Given the description of an element on the screen output the (x, y) to click on. 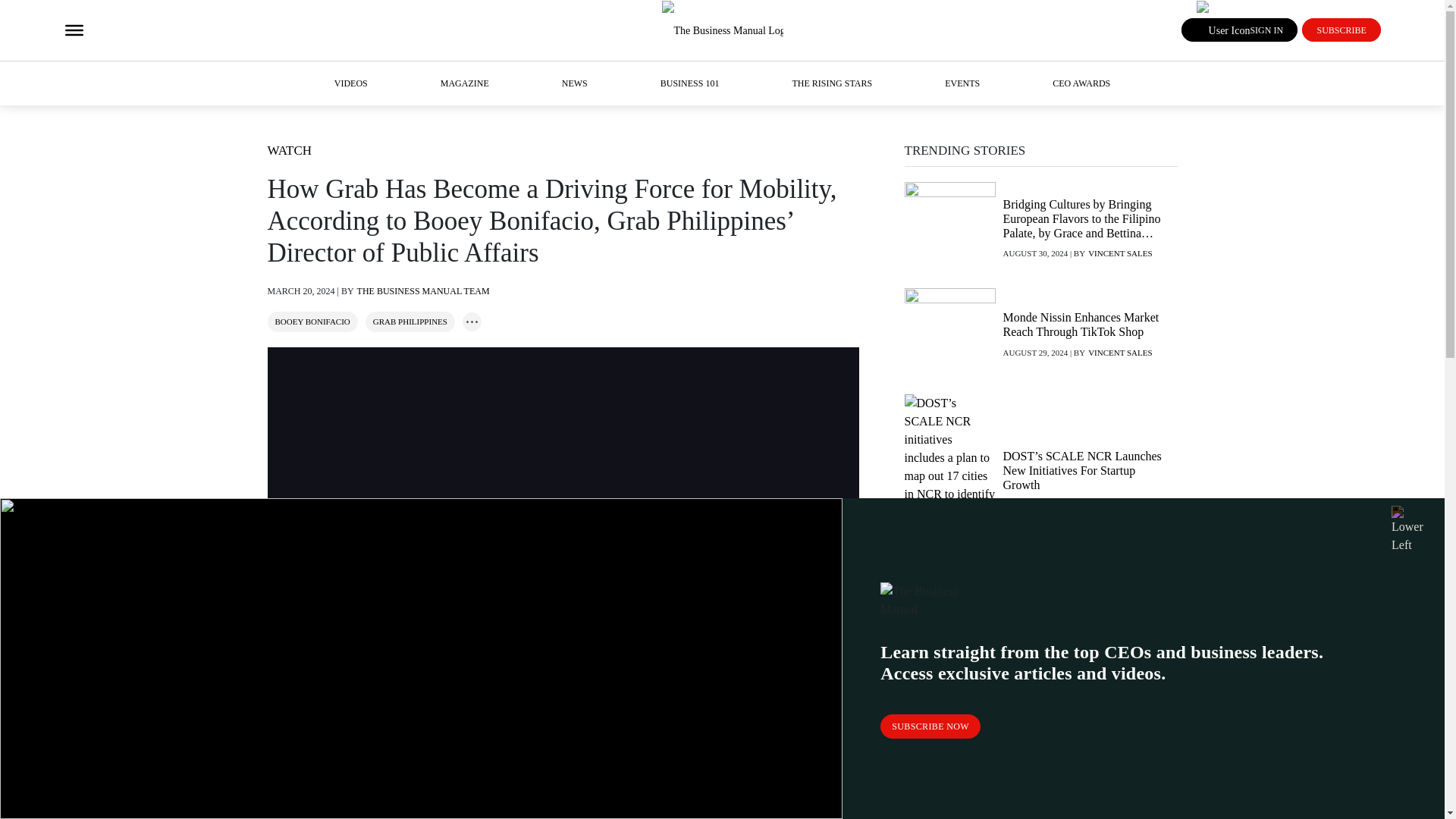
Watch (288, 150)
SUBSCRIBE (1340, 29)
booey bonifacio (312, 320)
on (472, 321)
grab philippines (409, 320)
BUSINESS 101 (690, 82)
SIGN IN (1238, 29)
MAGAZINE (465, 82)
